Given the description of an element on the screen output the (x, y) to click on. 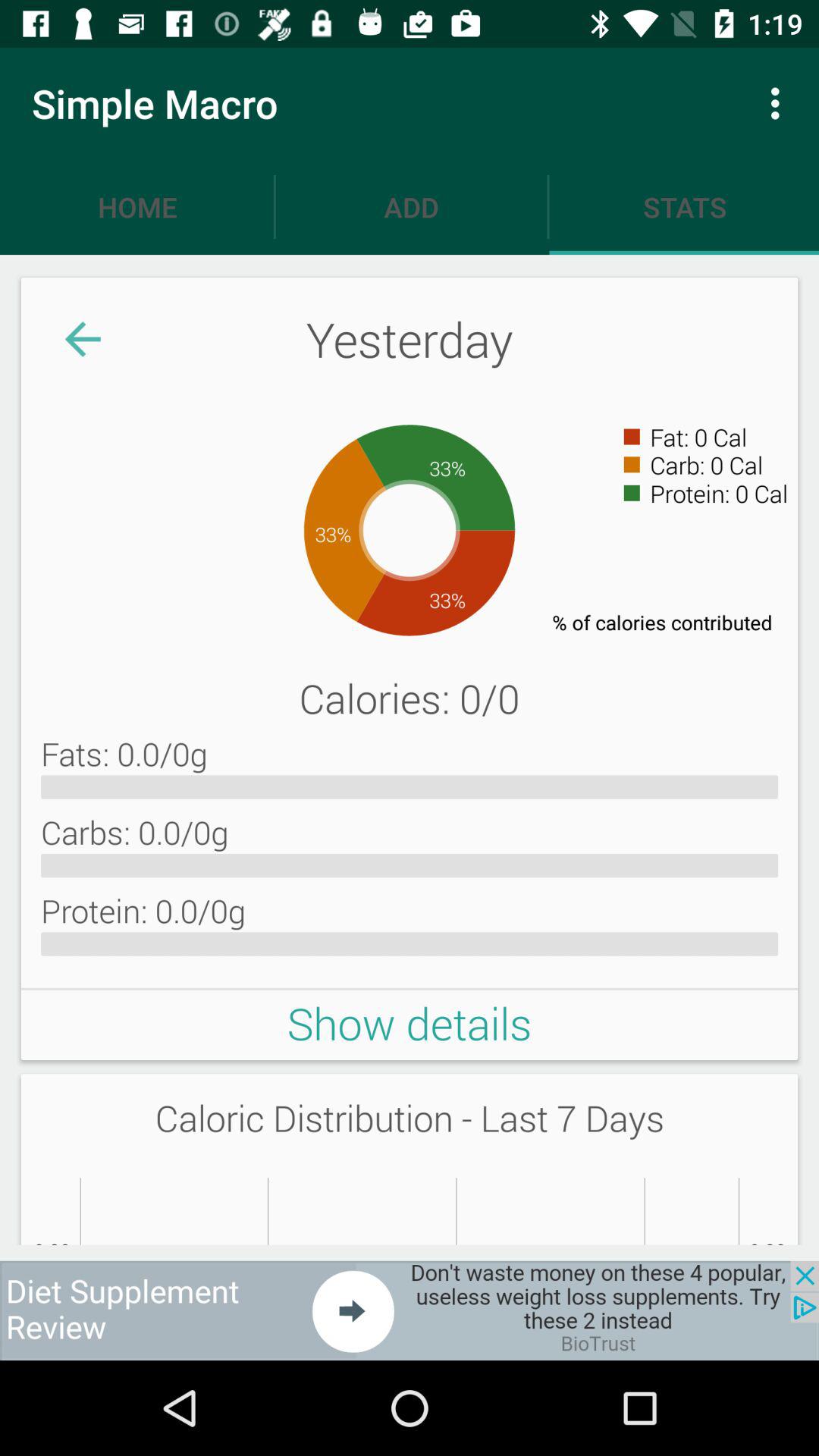
advertisement bar (409, 1310)
